Given the description of an element on the screen output the (x, y) to click on. 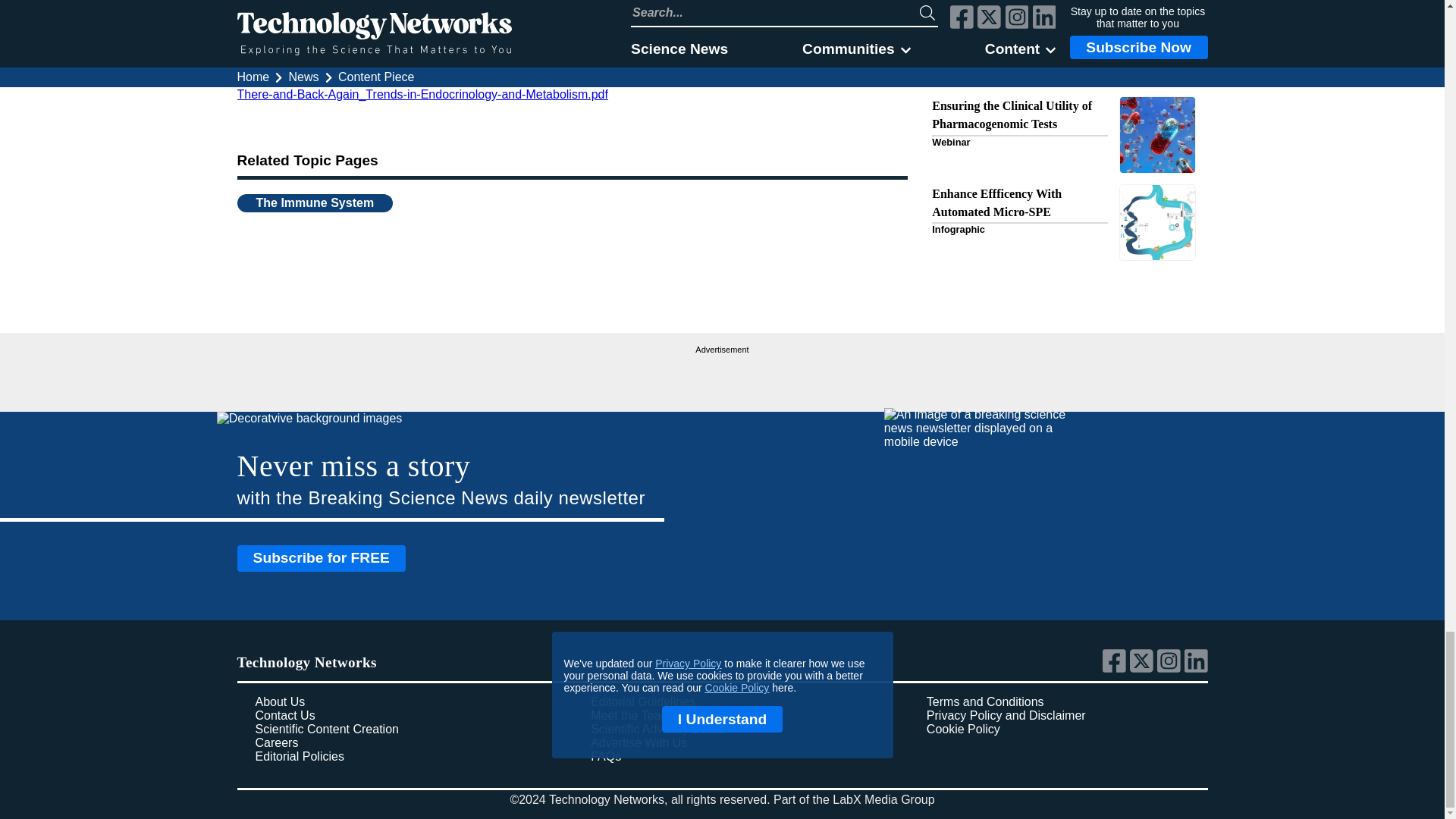
3rd party ad content (721, 376)
Link to Technology Networks' facebook page (1115, 668)
Link to Technology Networks' linkedin page (1196, 668)
Link to Technology Networks' twitter page (1143, 668)
Link to Technology Networks' instagram page (1171, 668)
